Given the description of an element on the screen output the (x, y) to click on. 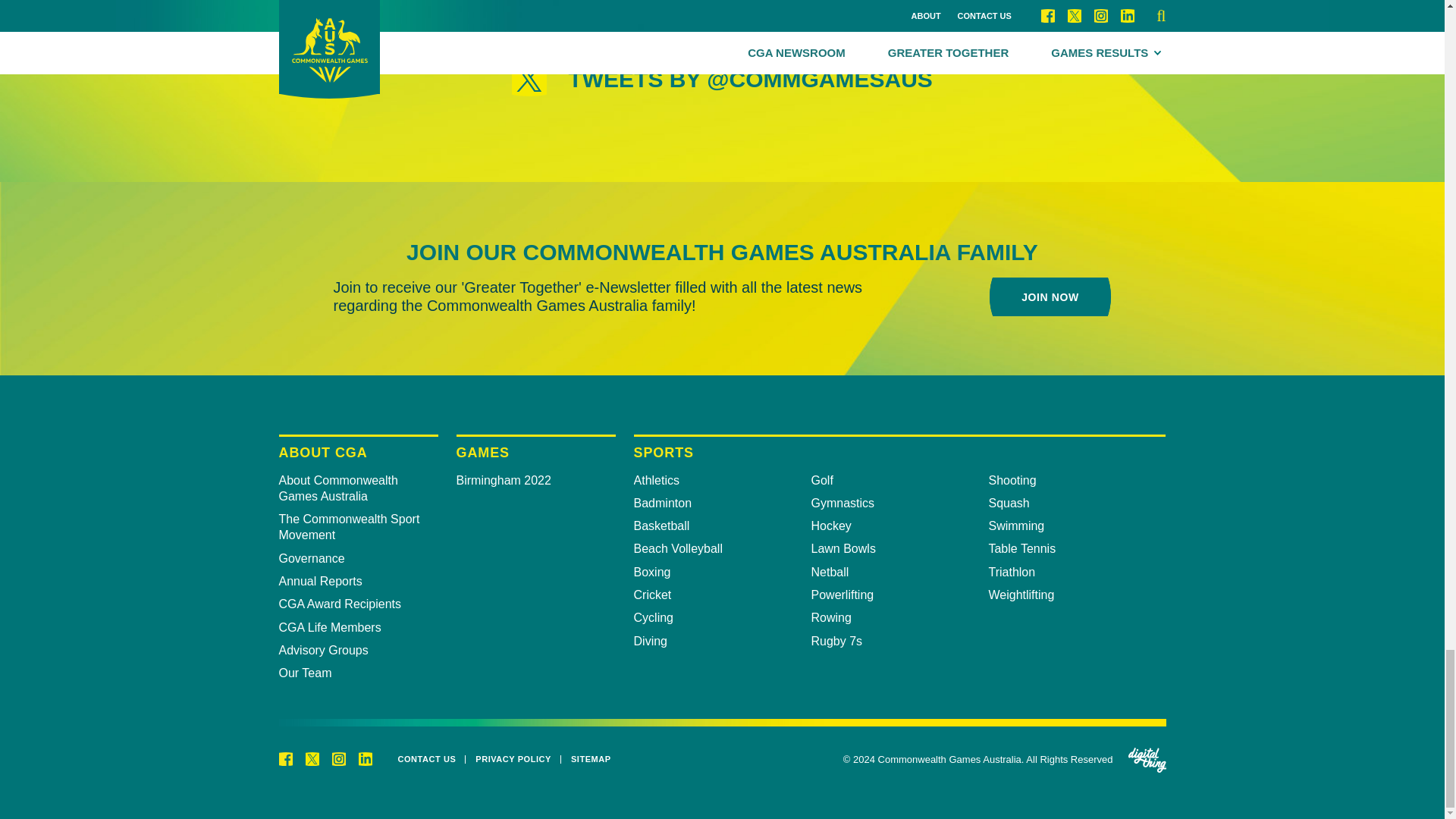
Melbourne Wordpress Developers - Digital Thing (1147, 760)
